Given the description of an element on the screen output the (x, y) to click on. 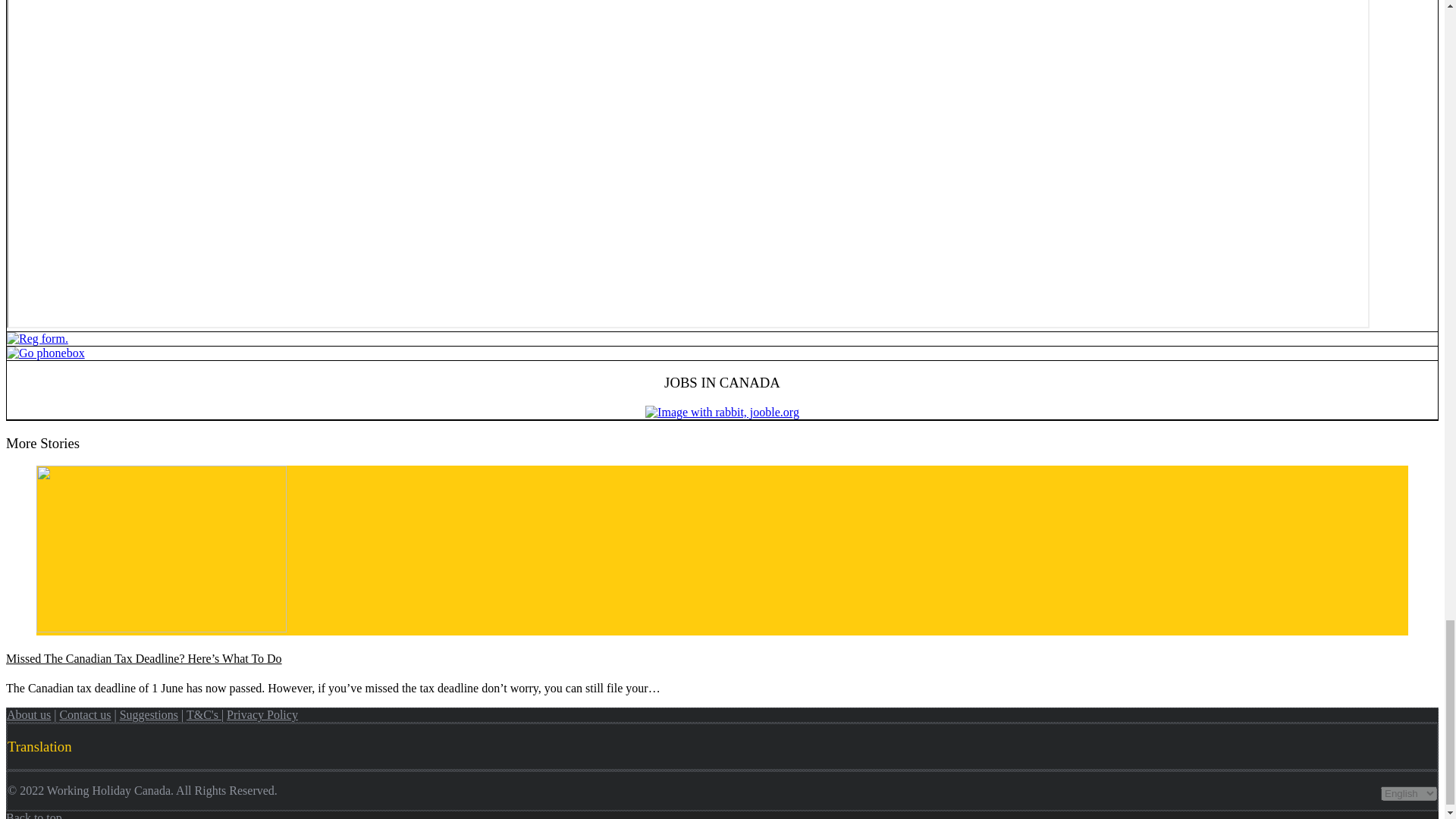
registratoin form (37, 338)
Go phonebox (45, 352)
